Given the description of an element on the screen output the (x, y) to click on. 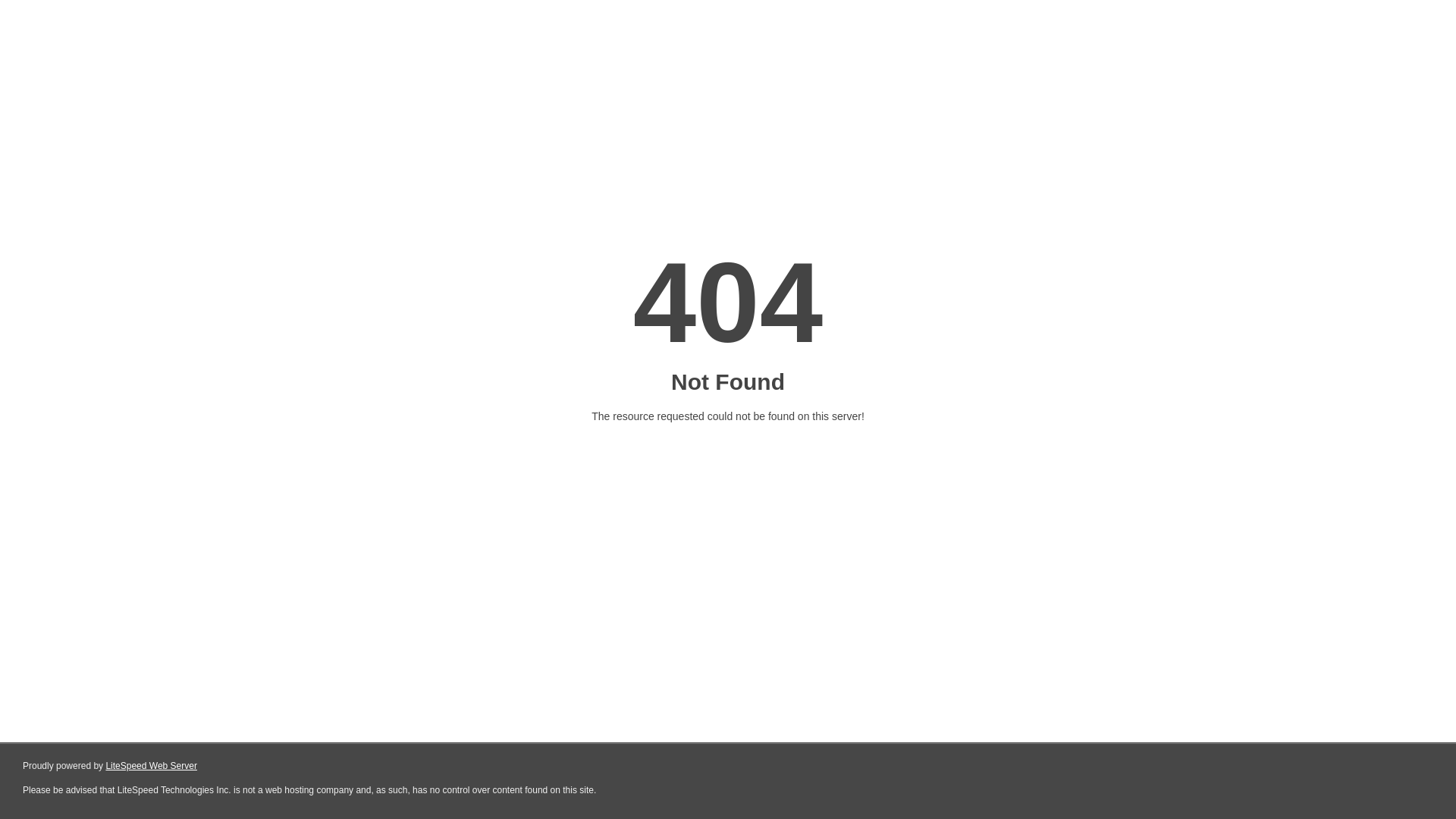
LiteSpeed Web Server Element type: text (151, 765)
